Given the description of an element on the screen output the (x, y) to click on. 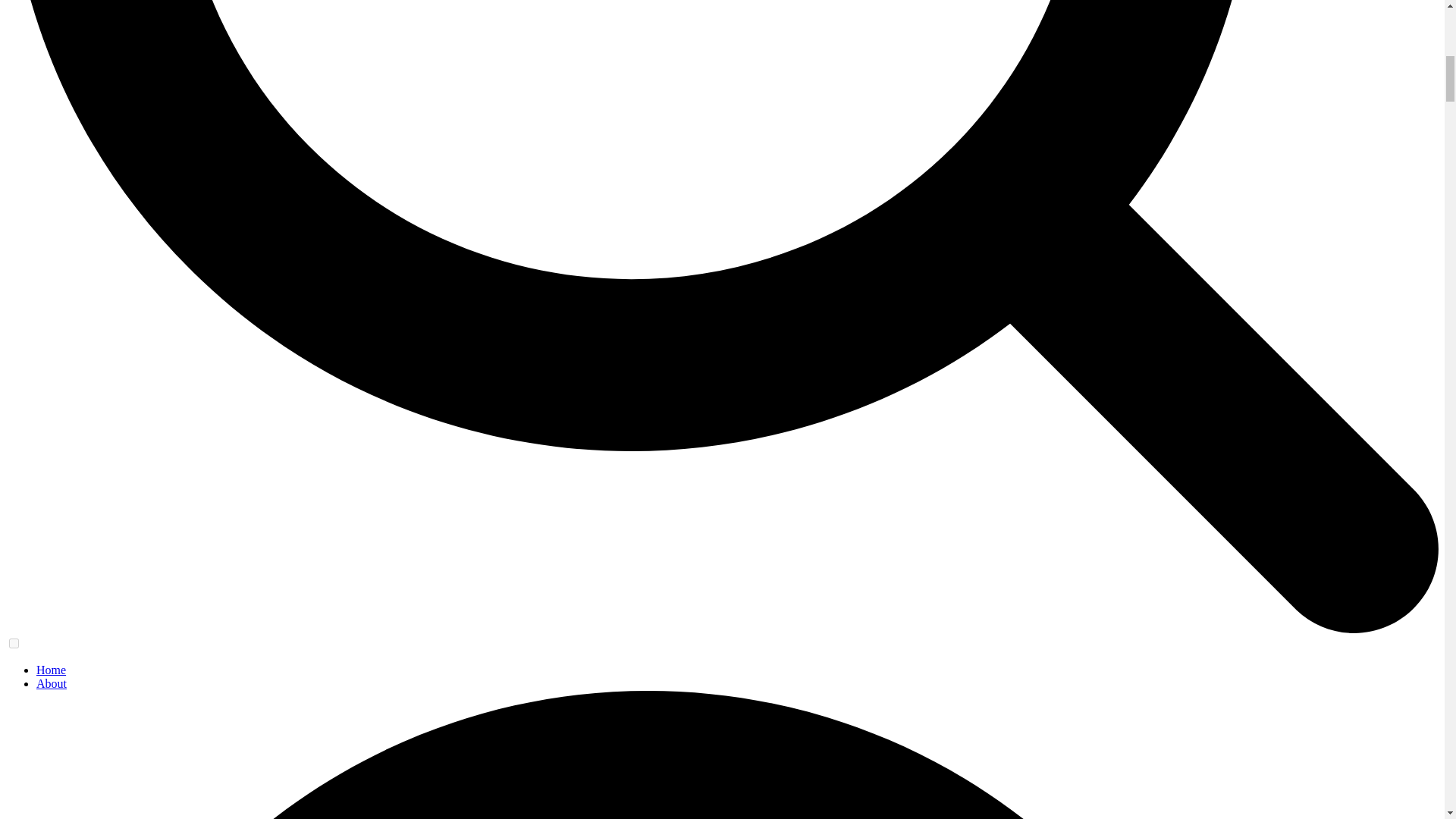
Home (50, 669)
on (13, 643)
About (51, 683)
